Given the description of an element on the screen output the (x, y) to click on. 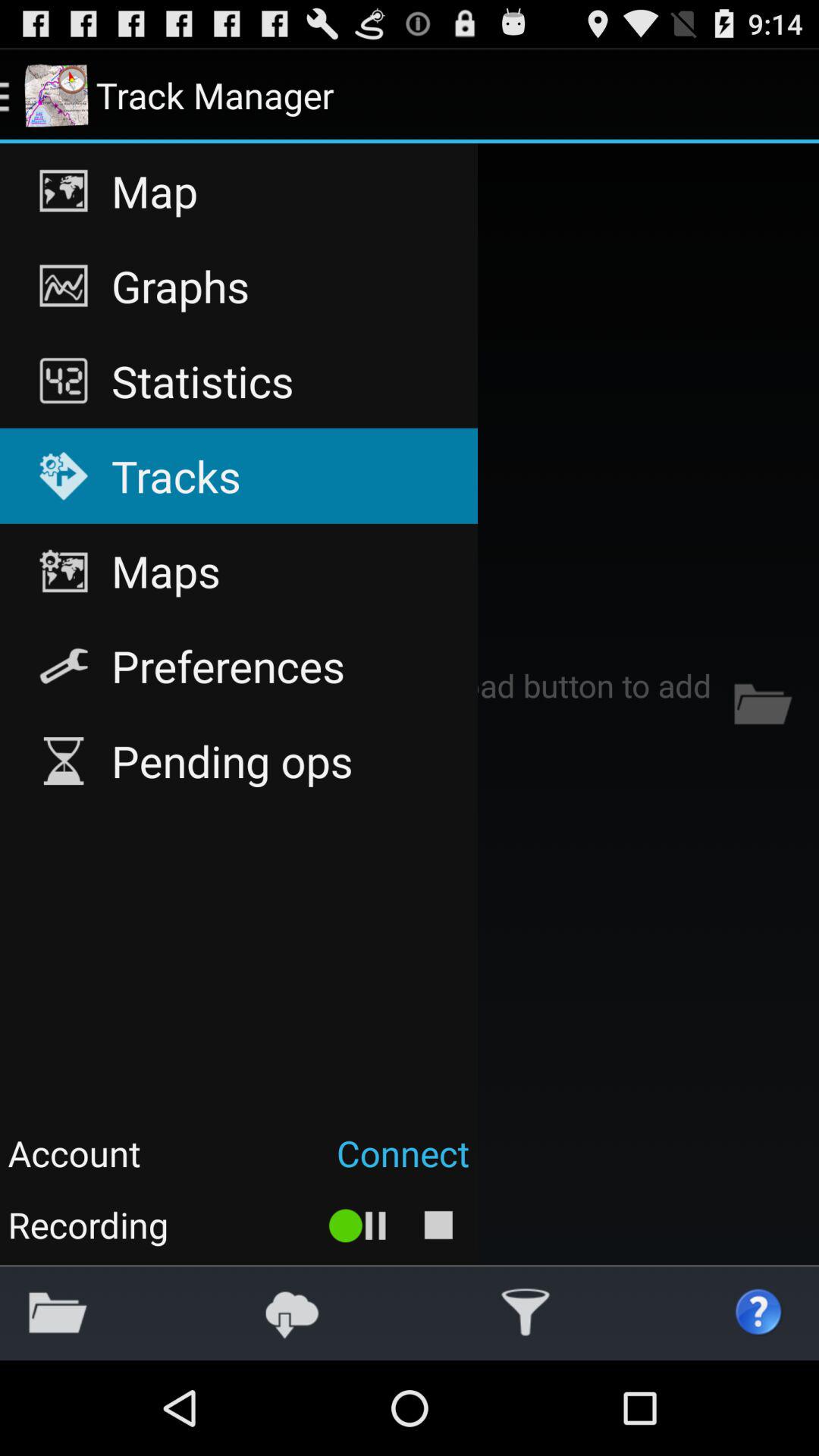
turn on the icon to the right of the account item (312, 1152)
